Given the description of an element on the screen output the (x, y) to click on. 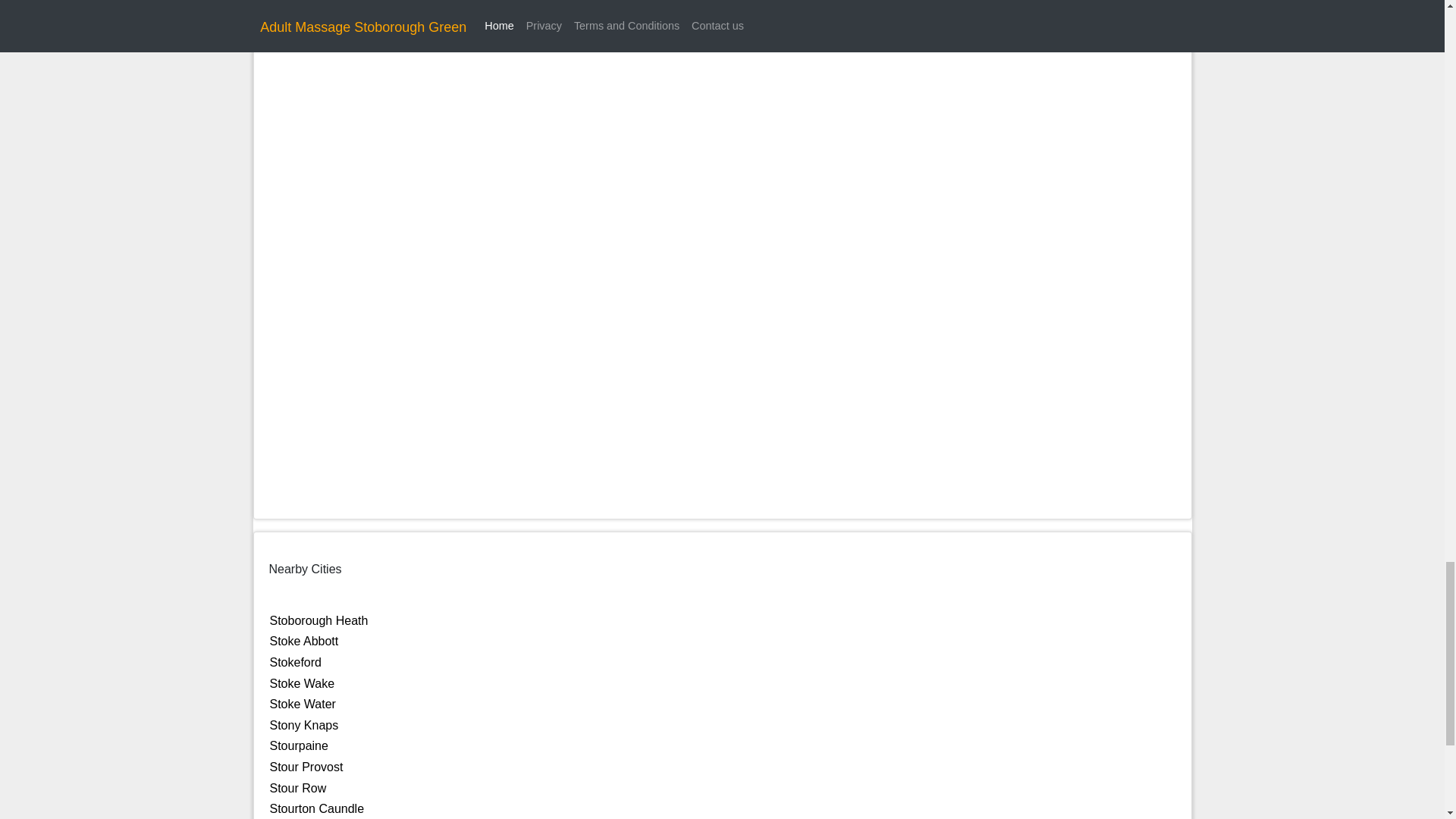
Stour Provost (306, 766)
Stokeford (295, 662)
Stourton Caundle (317, 808)
Stoborough Heath (318, 620)
Stoke Wake (301, 683)
Stourpaine (299, 745)
Stoke Abbott (304, 640)
Stony Knaps (304, 725)
Stour Row (297, 788)
Stoke Water (302, 703)
